Given the description of an element on the screen output the (x, y) to click on. 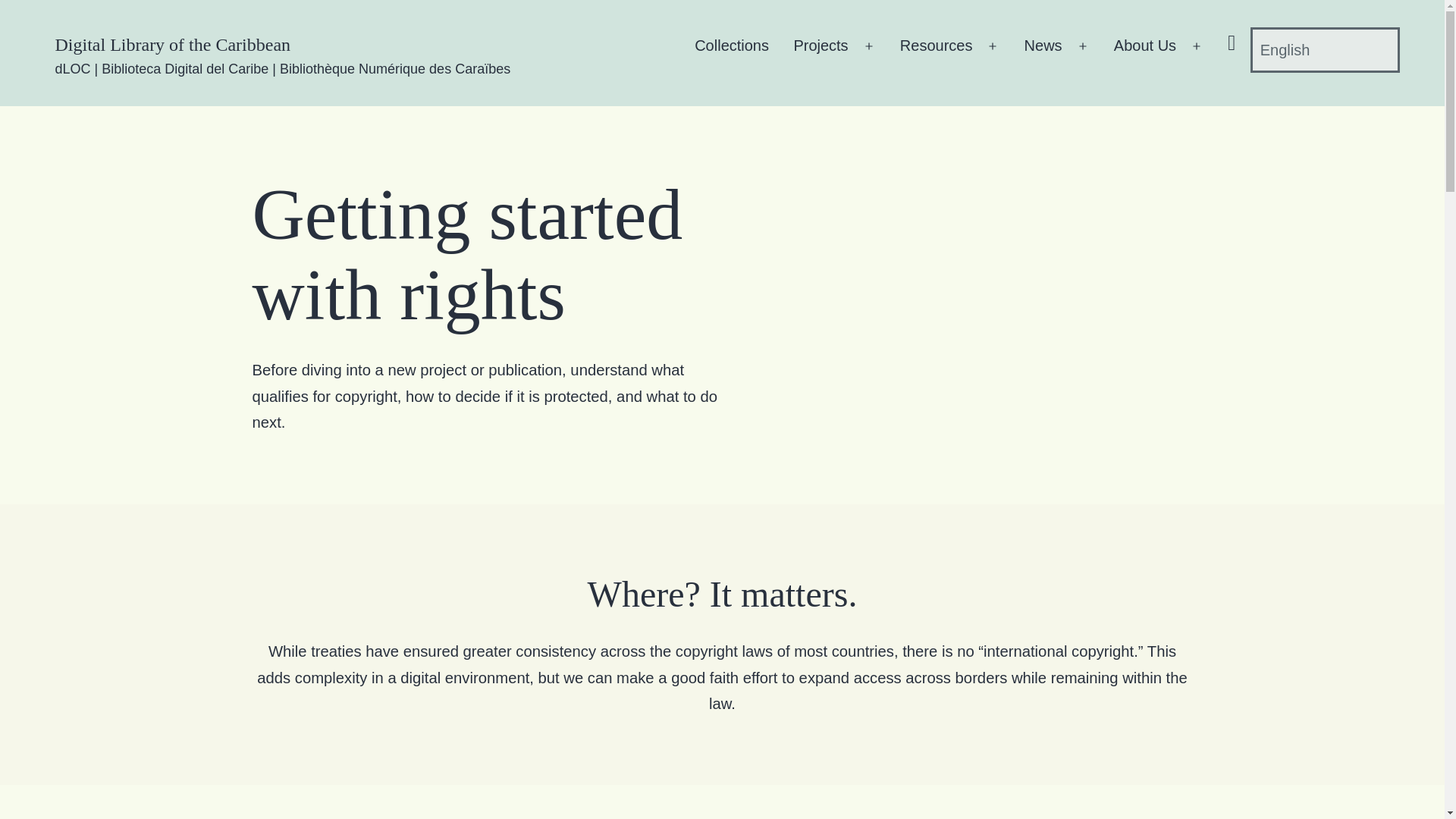
Collections (731, 49)
Resources (935, 49)
Digital Library of the Caribbean (172, 44)
Projects (821, 49)
News (1042, 49)
About Us (1144, 49)
